Given the description of an element on the screen output the (x, y) to click on. 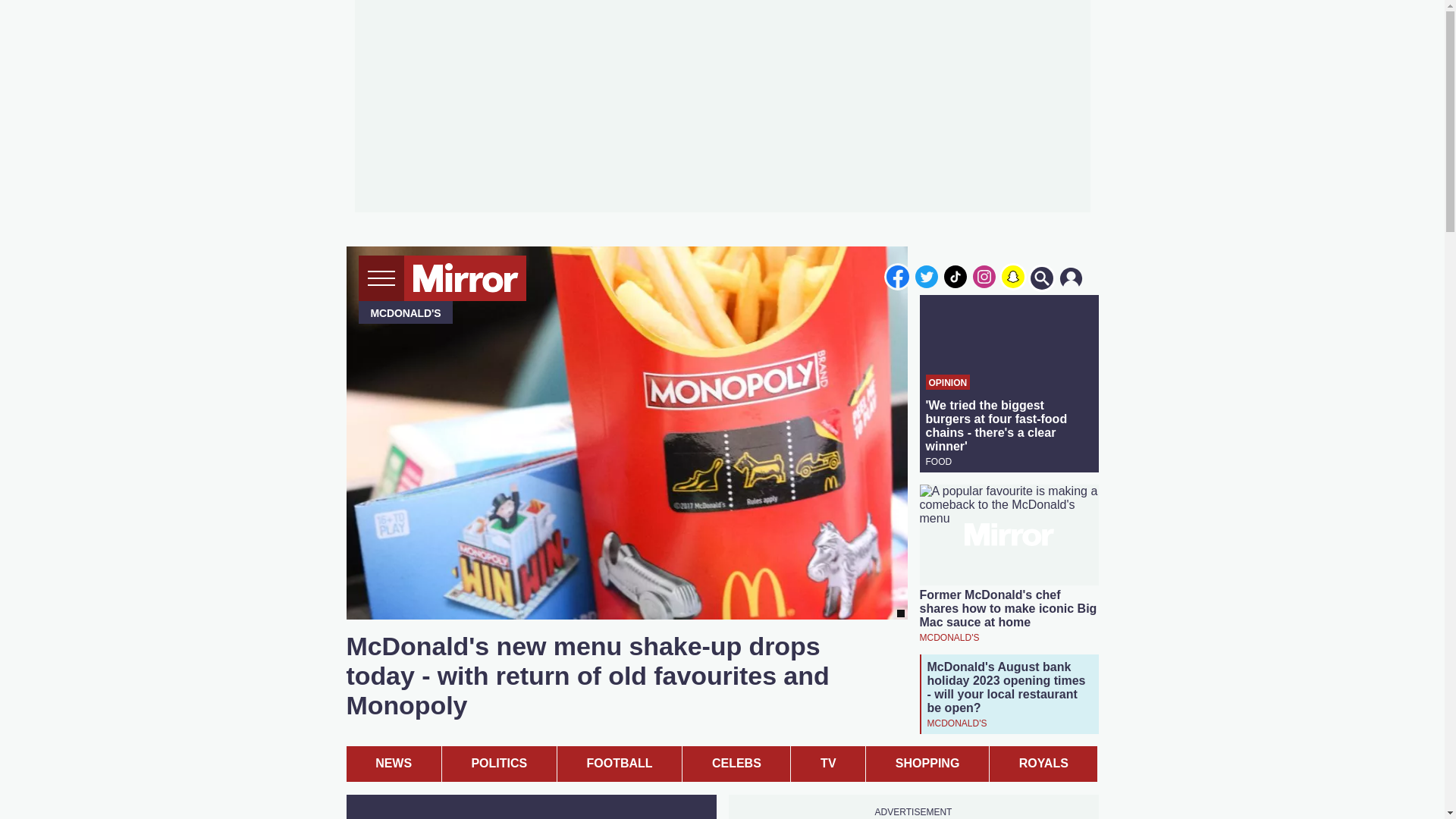
twitter (926, 276)
TV (827, 764)
NEWS (393, 764)
CELEBS (736, 764)
POLITICS (499, 764)
FOOTBALL (619, 764)
tiktok (955, 276)
ROYALS (1043, 764)
instagram (984, 276)
